Given the description of an element on the screen output the (x, y) to click on. 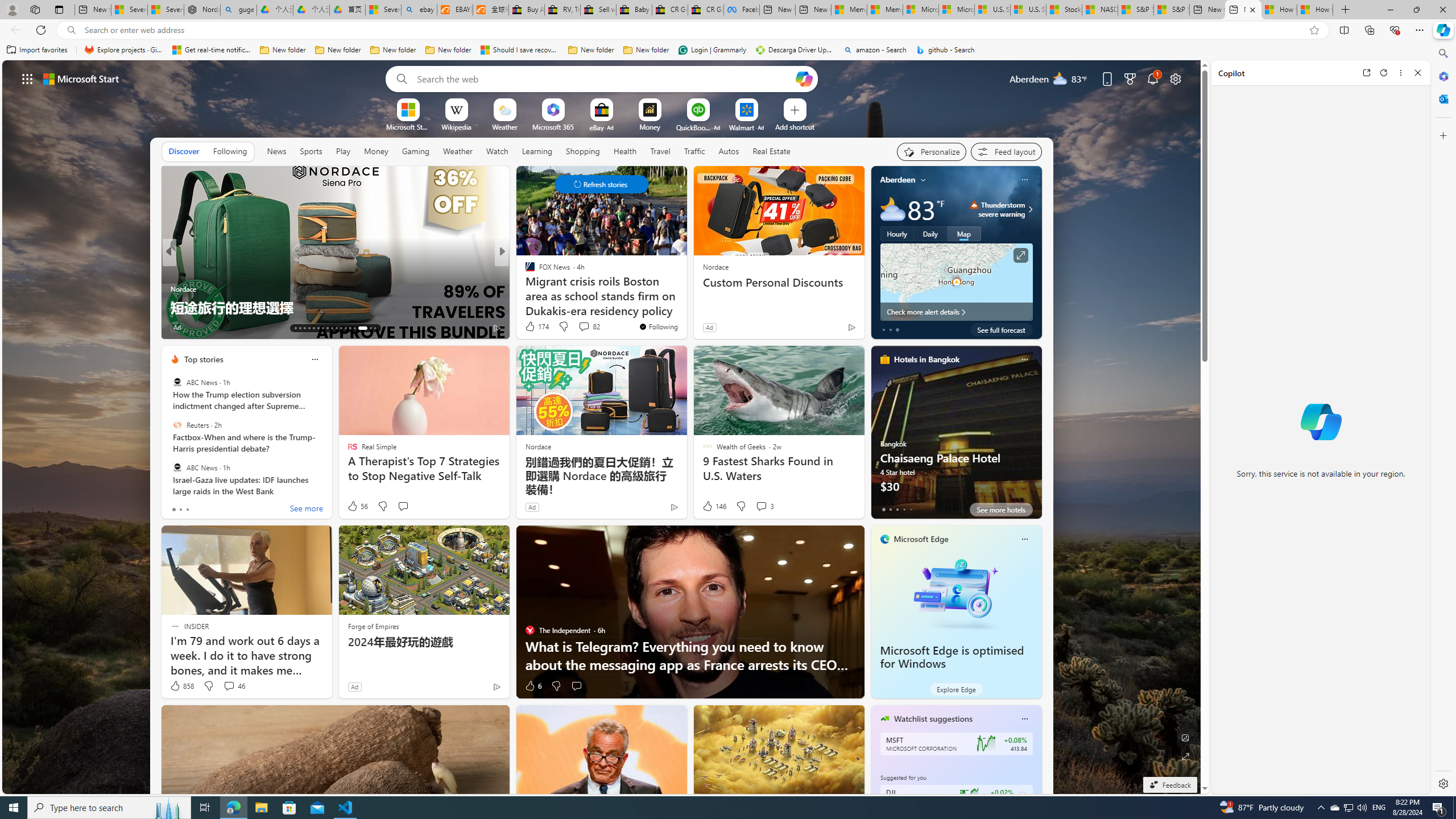
Gaming (415, 151)
github - Search (945, 49)
Microsoft 365 (553, 126)
Wikipedia (456, 126)
Play (342, 151)
Health (624, 151)
Check more alert details (955, 311)
AutomationID: tab-15 (304, 328)
Travel (660, 151)
Discover (183, 151)
guge yunpan - Search (238, 9)
